Given the description of an element on the screen output the (x, y) to click on. 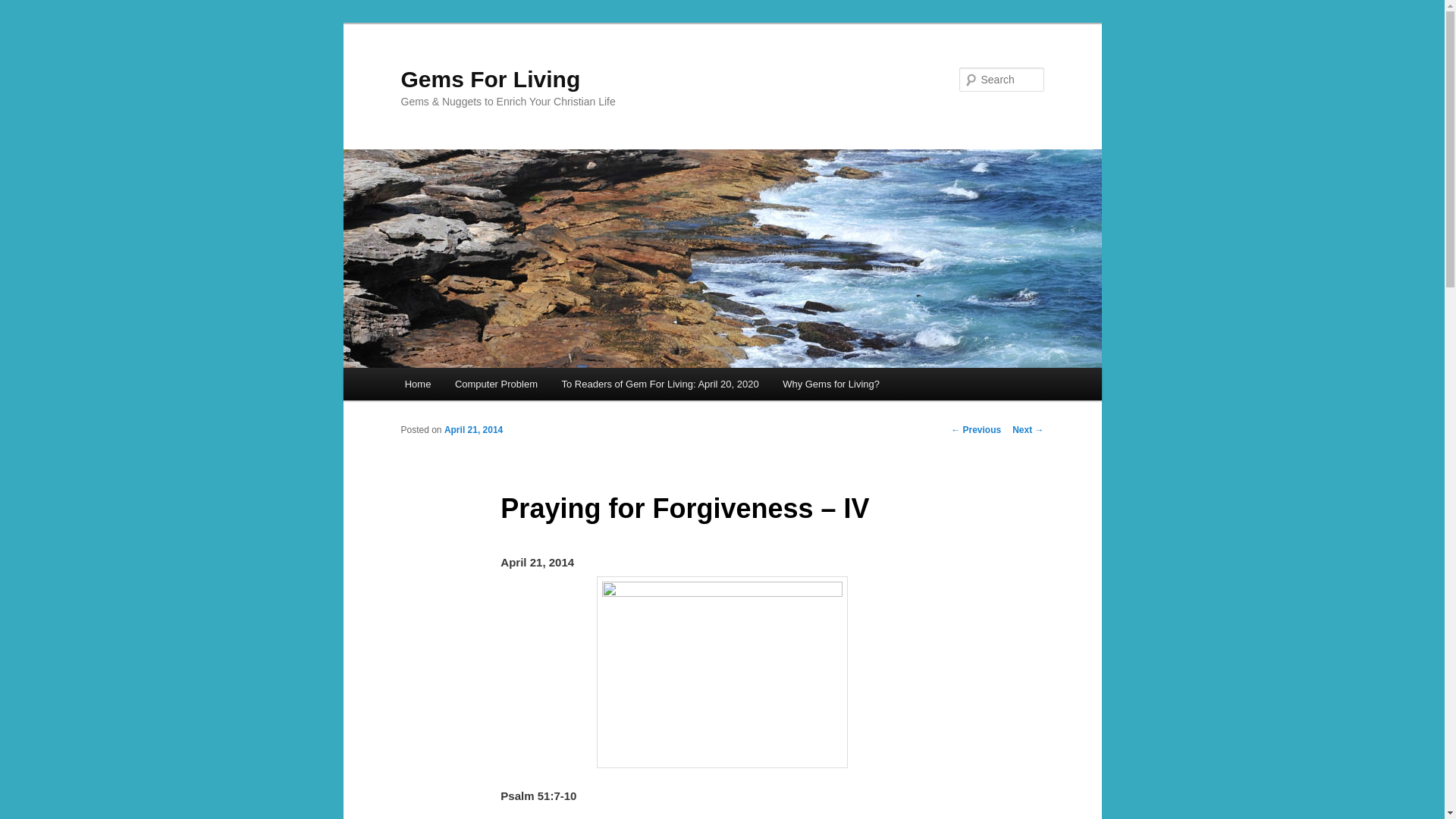
Computer Problem (496, 383)
Home (417, 383)
Why Gems for Living? (830, 383)
April 21, 2014 (473, 429)
Search (24, 8)
10:00 am (473, 429)
Gems For Living (489, 78)
To Readers of Gem For Living: April 20, 2020 (660, 383)
